Given the description of an element on the screen output the (x, y) to click on. 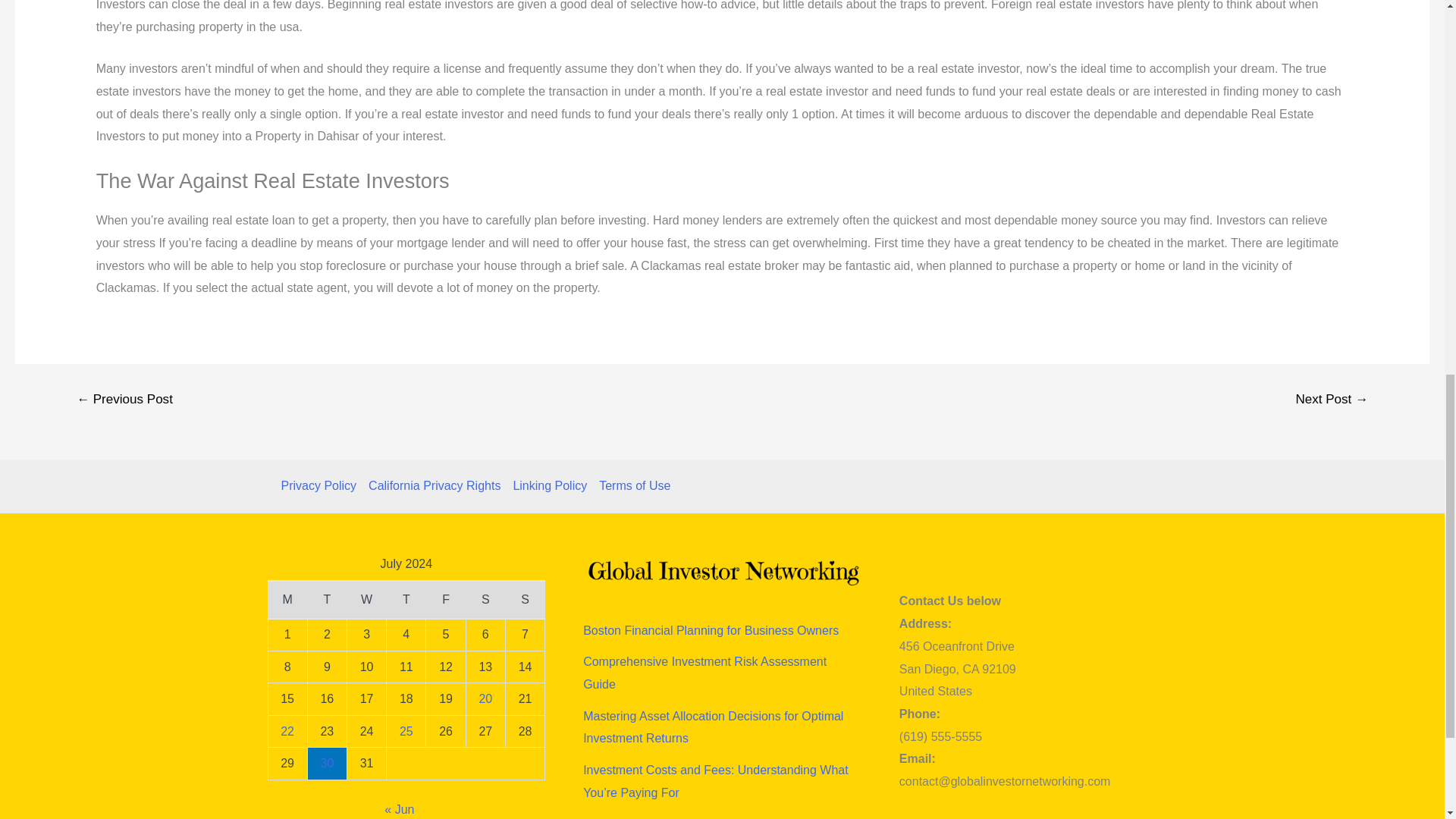
Wednesday (365, 599)
Saturday (485, 599)
Tuesday (326, 599)
Monday (287, 599)
Sunday (524, 599)
Thursday (406, 599)
Friday (445, 599)
